Given the description of an element on the screen output the (x, y) to click on. 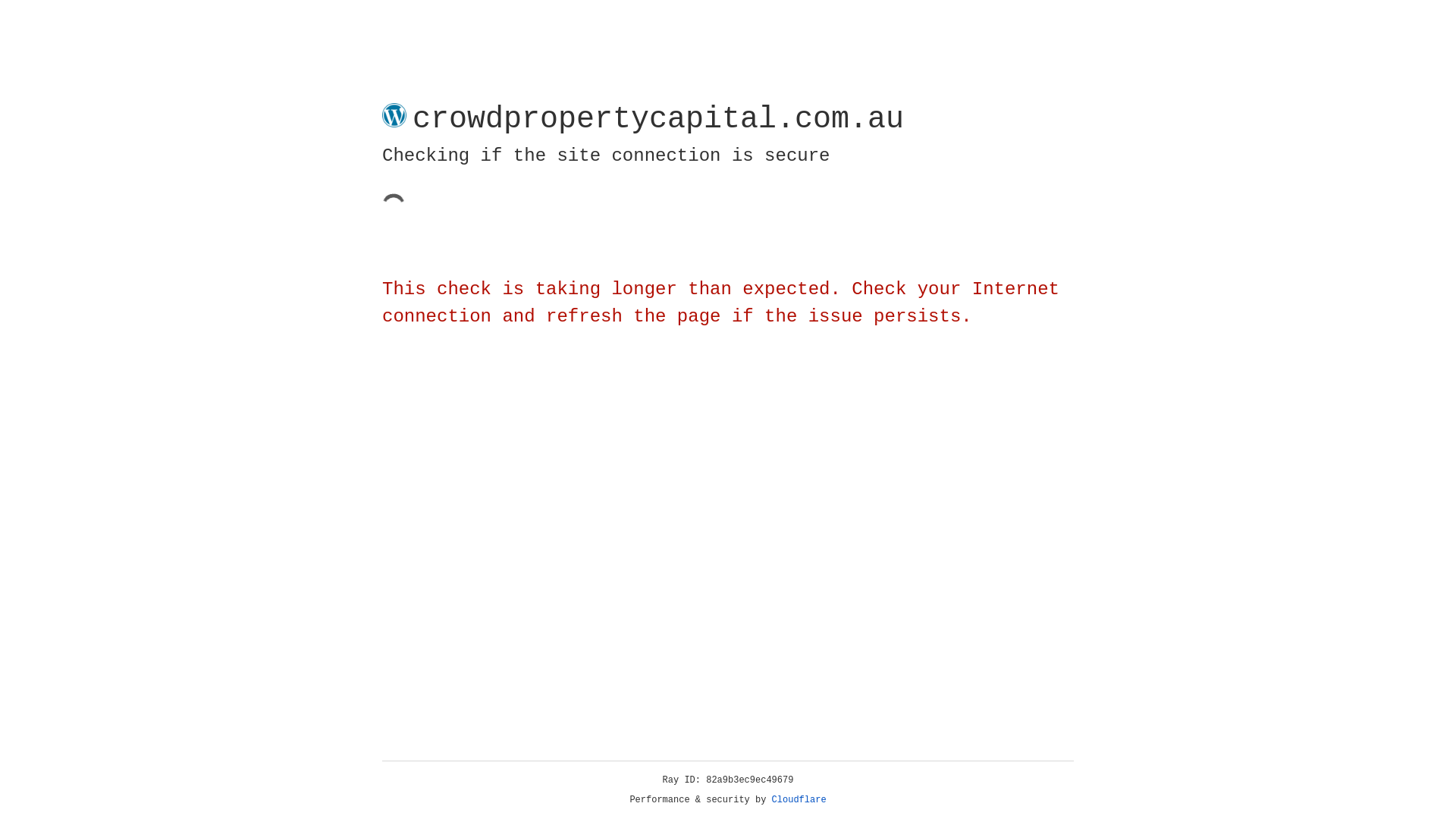
Cloudflare Element type: text (798, 799)
